Given the description of an element on the screen output the (x, y) to click on. 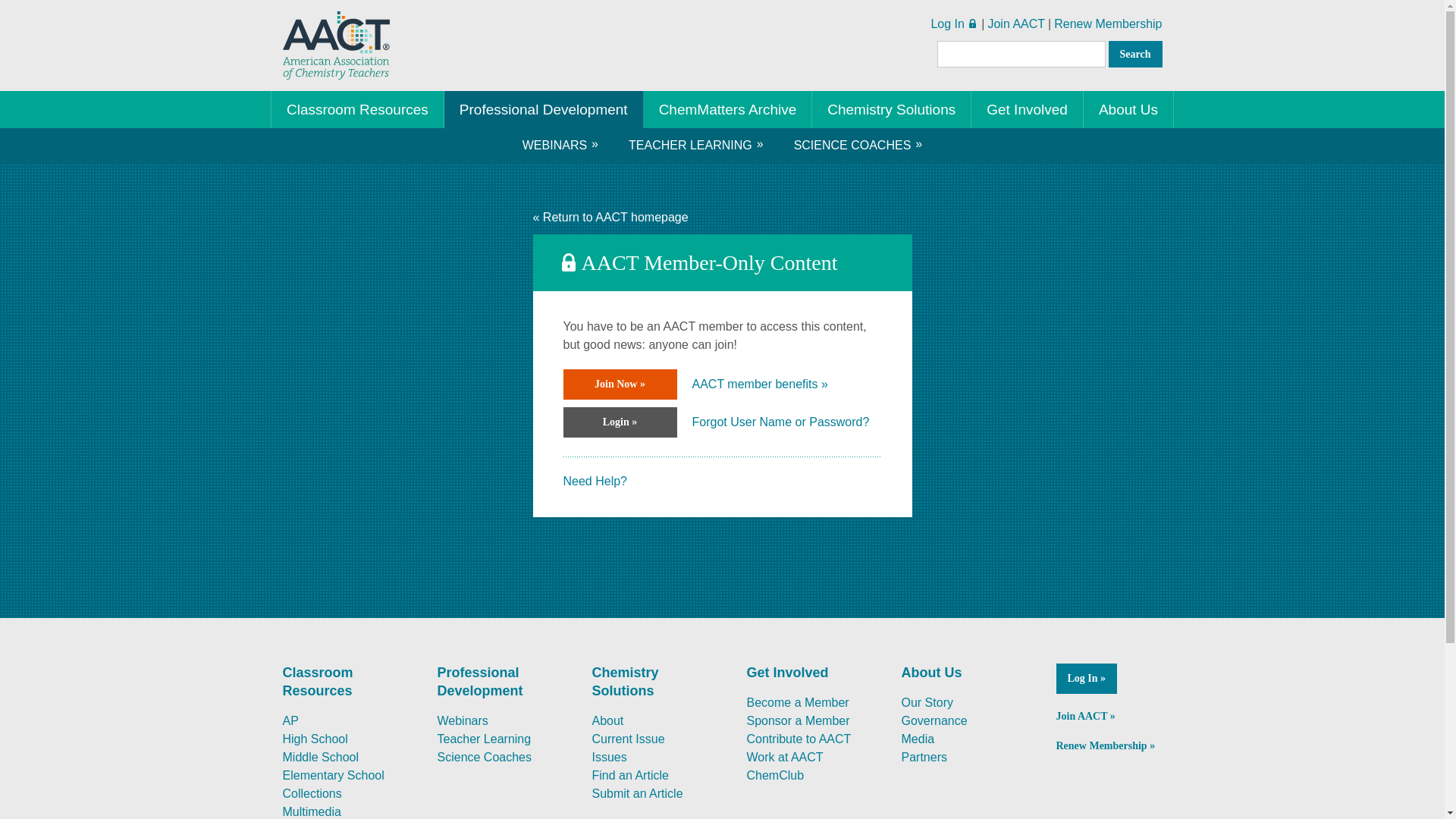
Renew Membership (1107, 23)
About Us (1128, 108)
Join AACT (1016, 23)
Professional Development (543, 108)
Chemistry Solutions (891, 108)
Log In (946, 23)
Search (1134, 53)
Get Involved (1027, 108)
TEACHER LEARNING (695, 144)
ChemMatters Archive (727, 108)
